Given the description of an element on the screen output the (x, y) to click on. 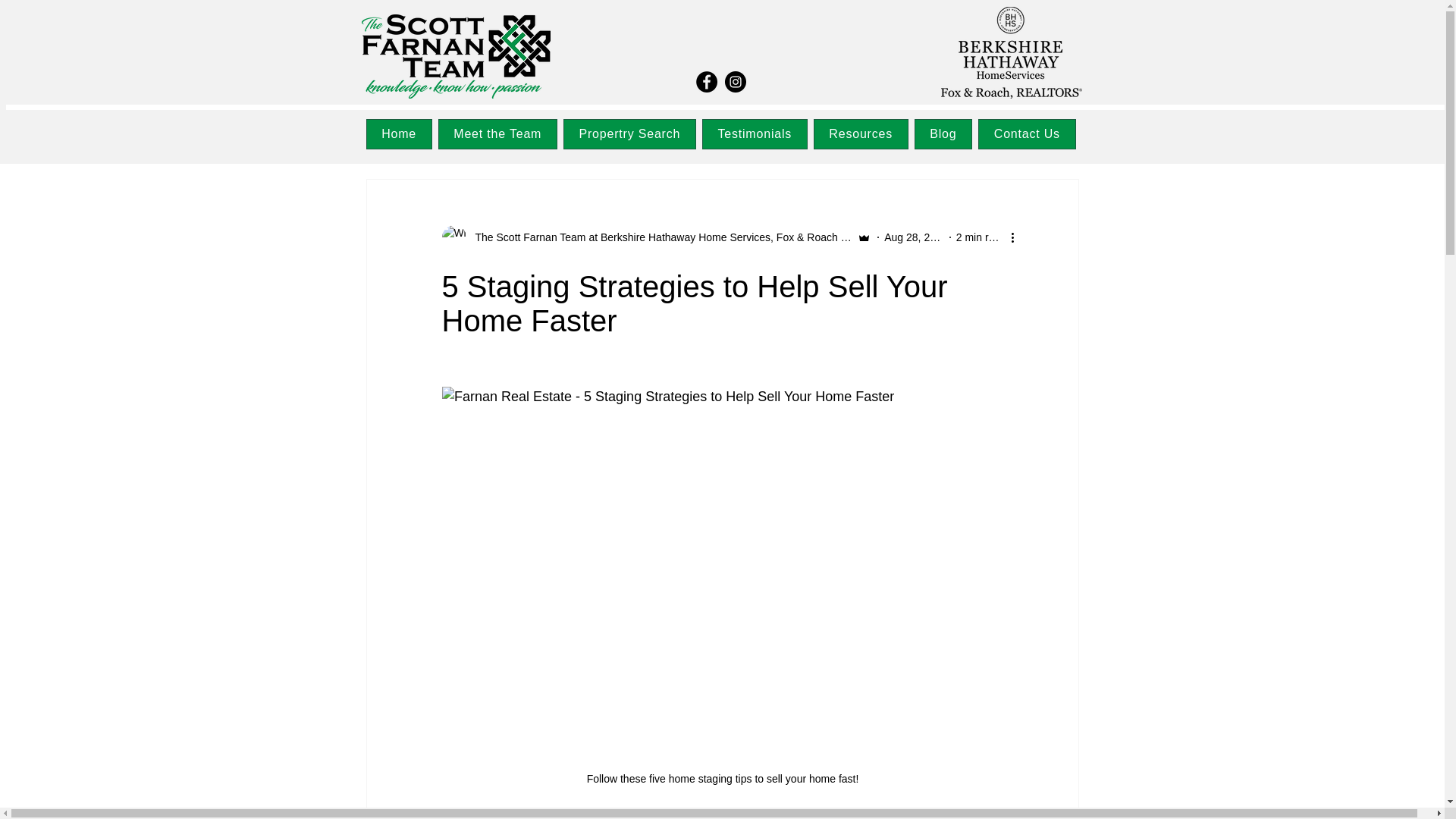
Meet the Team (497, 133)
Blog (943, 133)
Contact Us (1026, 133)
Aug 28, 2022 (915, 236)
2 min read (981, 236)
Testimonials (754, 133)
Home (397, 133)
